Given the description of an element on the screen output the (x, y) to click on. 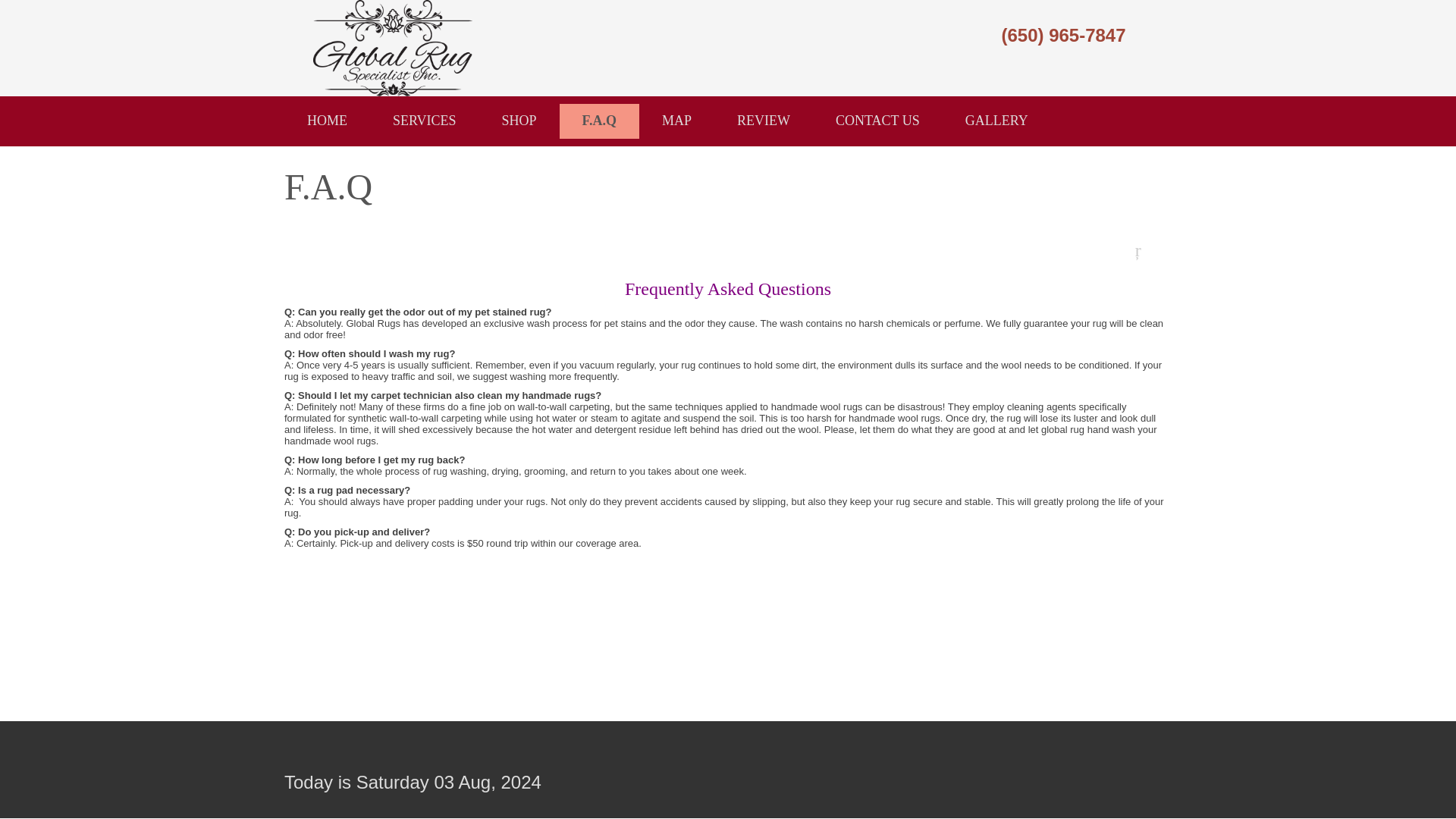
SERVICES (424, 121)
CONTACT US (877, 121)
HOME (326, 121)
F.A.Q (599, 121)
GALLERY (996, 121)
SHOP (519, 121)
REVIEW (763, 121)
MAP (676, 121)
